Given the description of an element on the screen output the (x, y) to click on. 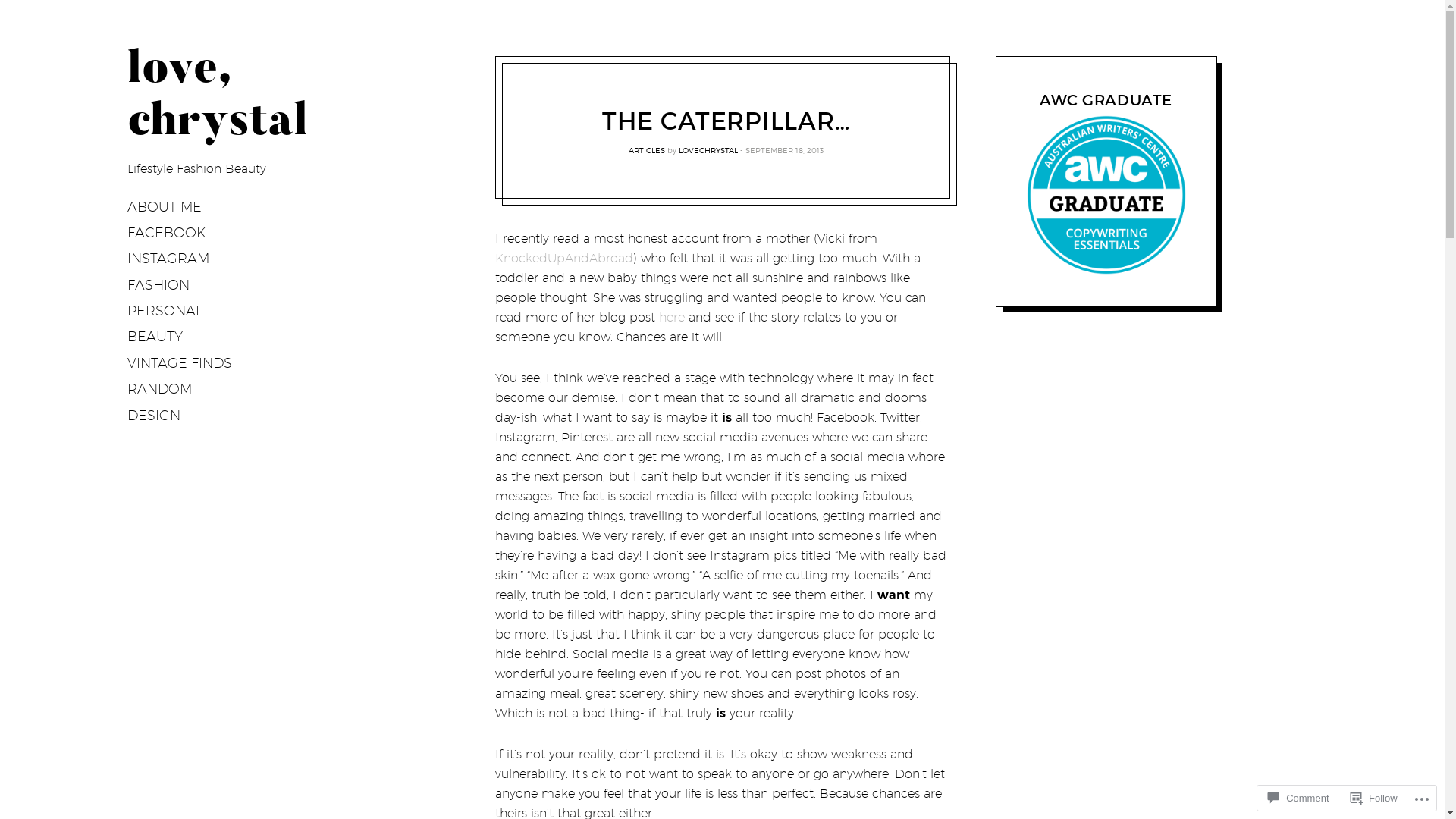
FASHION Element type: text (158, 285)
LOVECHRYSTAL Element type: text (707, 149)
KnockedUpAndAbroad Element type: text (563, 258)
RANDOM Element type: text (159, 389)
VINTAGE FINDS Element type: text (179, 363)
Proud AWC graduate Element type: hover (1106, 194)
here Element type: text (671, 317)
BEAUTY Element type: text (154, 337)
love, chrystal Element type: text (218, 97)
DESIGN Element type: text (153, 415)
Follow Element type: text (1373, 797)
ARTICLES Element type: text (646, 149)
Comment Element type: text (1297, 797)
INSTAGRAM Element type: text (168, 259)
ABOUT ME Element type: text (164, 206)
SEPTEMBER 18, 2013 Element type: text (784, 149)
PERSONAL Element type: text (164, 311)
FACEBOOK Element type: text (166, 232)
